Given the description of an element on the screen output the (x, y) to click on. 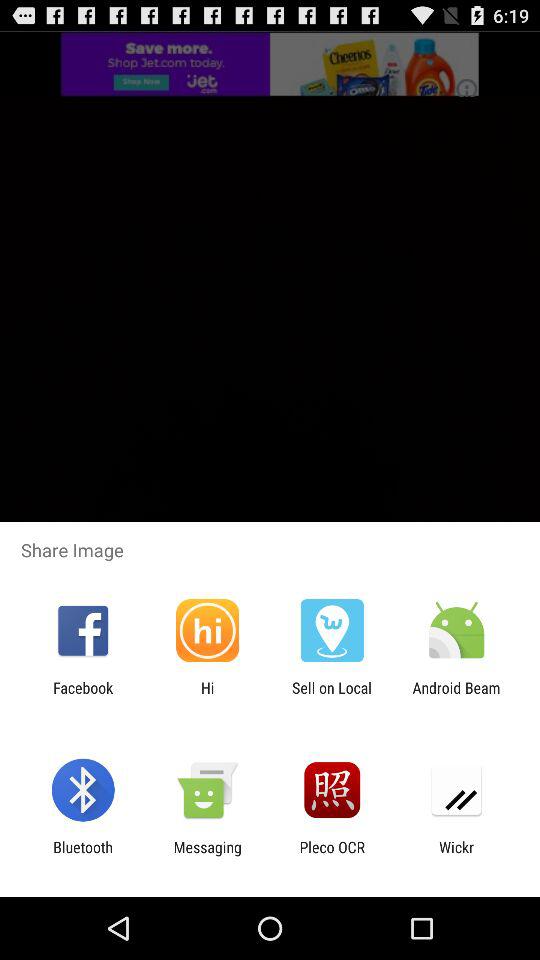
click sell on local icon (332, 696)
